Given the description of an element on the screen output the (x, y) to click on. 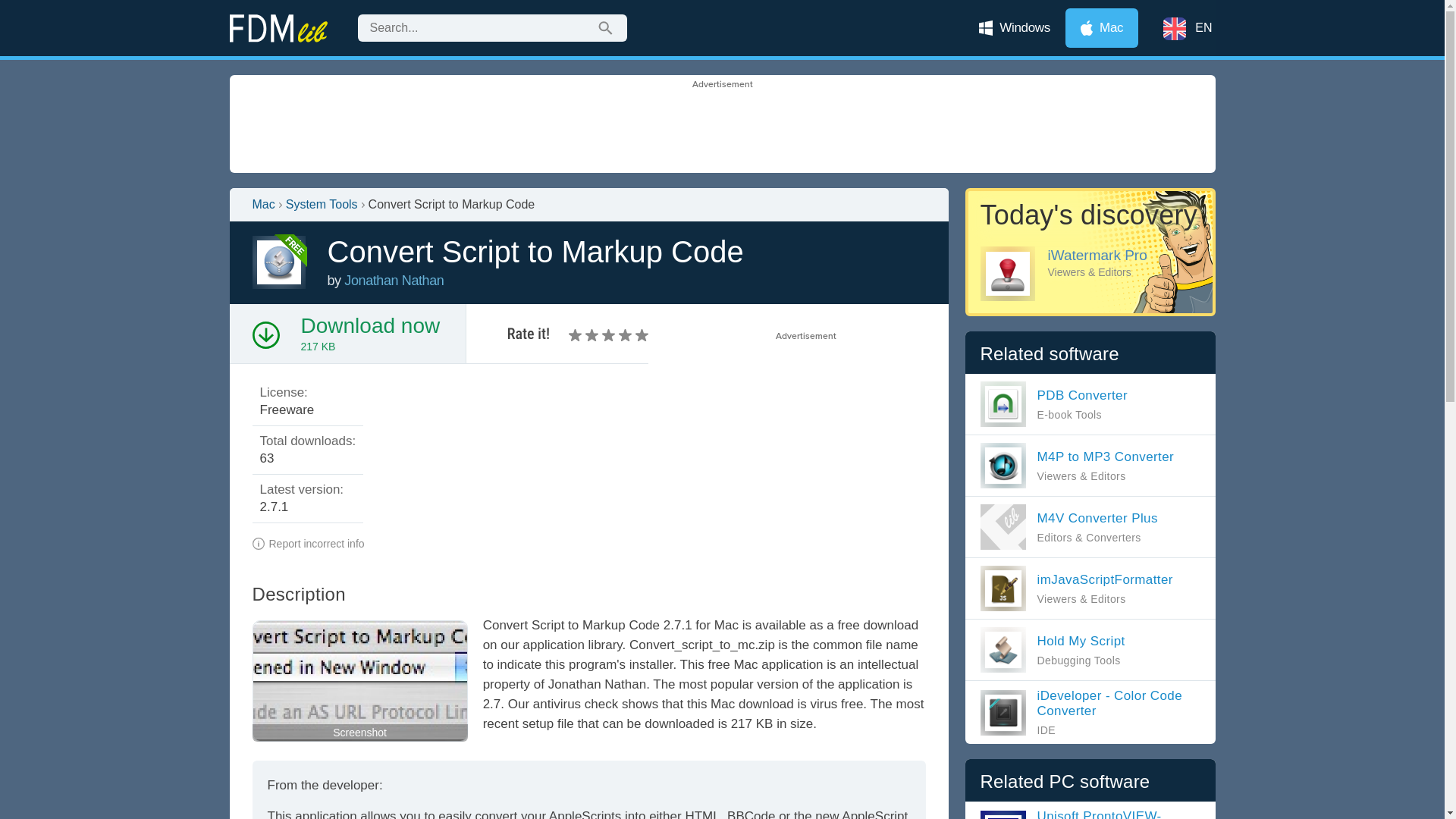
Hold My Script (1051, 649)
M4V Converter Plus (1068, 526)
Convert Script to Markup Code Jonathan Nathan (393, 280)
1 (1051, 649)
Mac (576, 335)
imJavaScriptFormatter (263, 204)
Windows (1075, 587)
Download now (1014, 27)
Mac (1052, 403)
2 (369, 325)
